Given the description of an element on the screen output the (x, y) to click on. 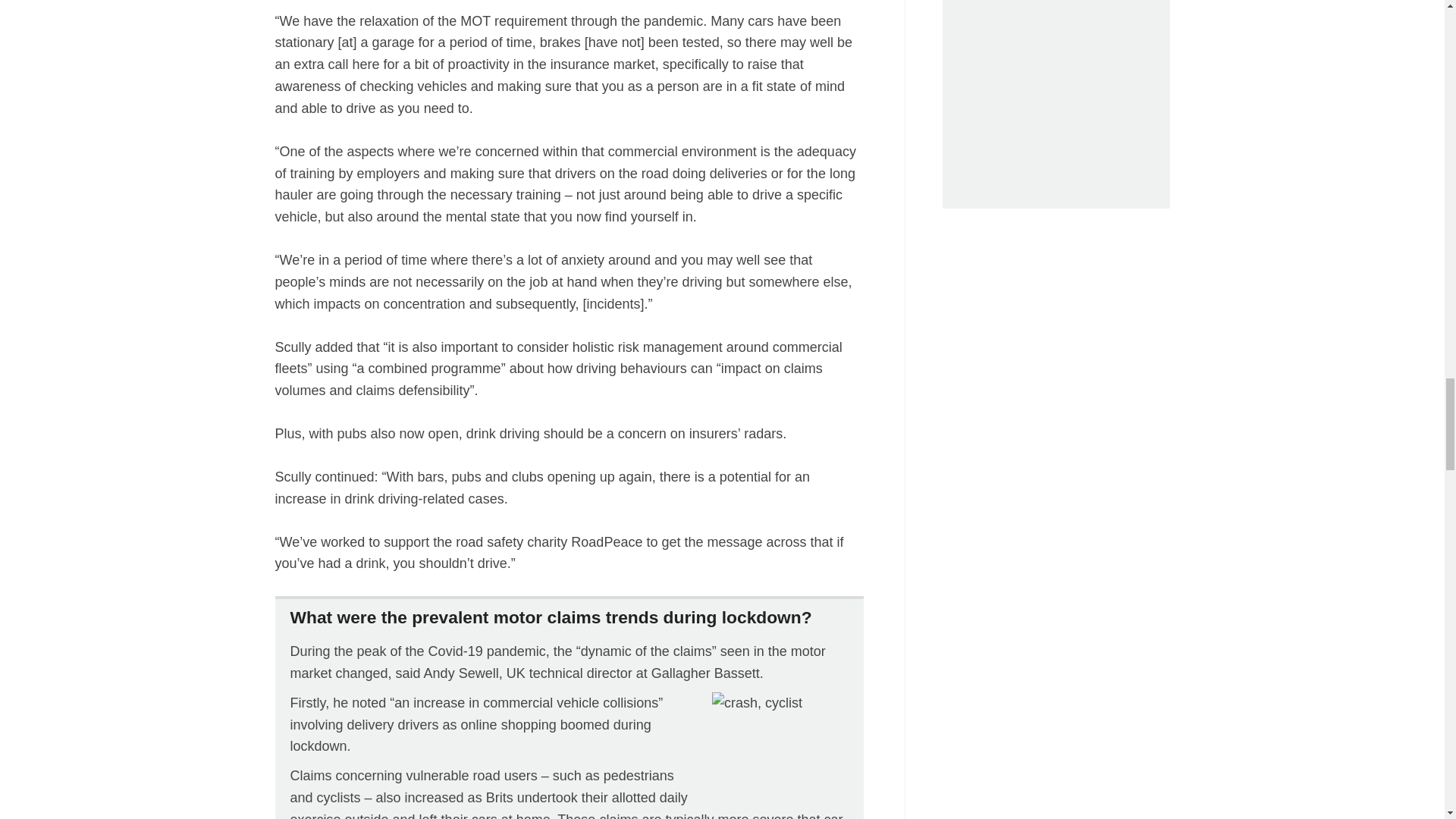
3rd party ad content (1055, 104)
